Given the description of an element on the screen output the (x, y) to click on. 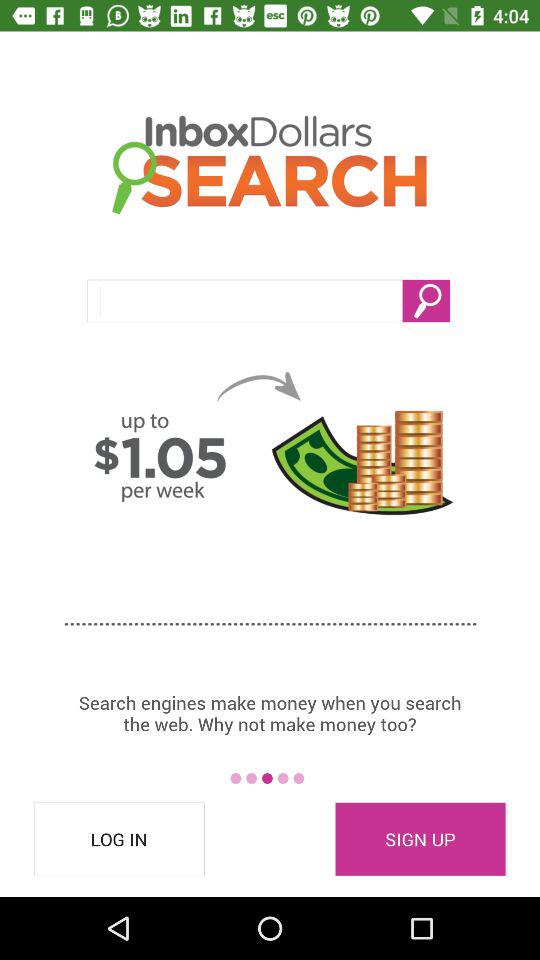
click log in icon (119, 839)
